Given the description of an element on the screen output the (x, y) to click on. 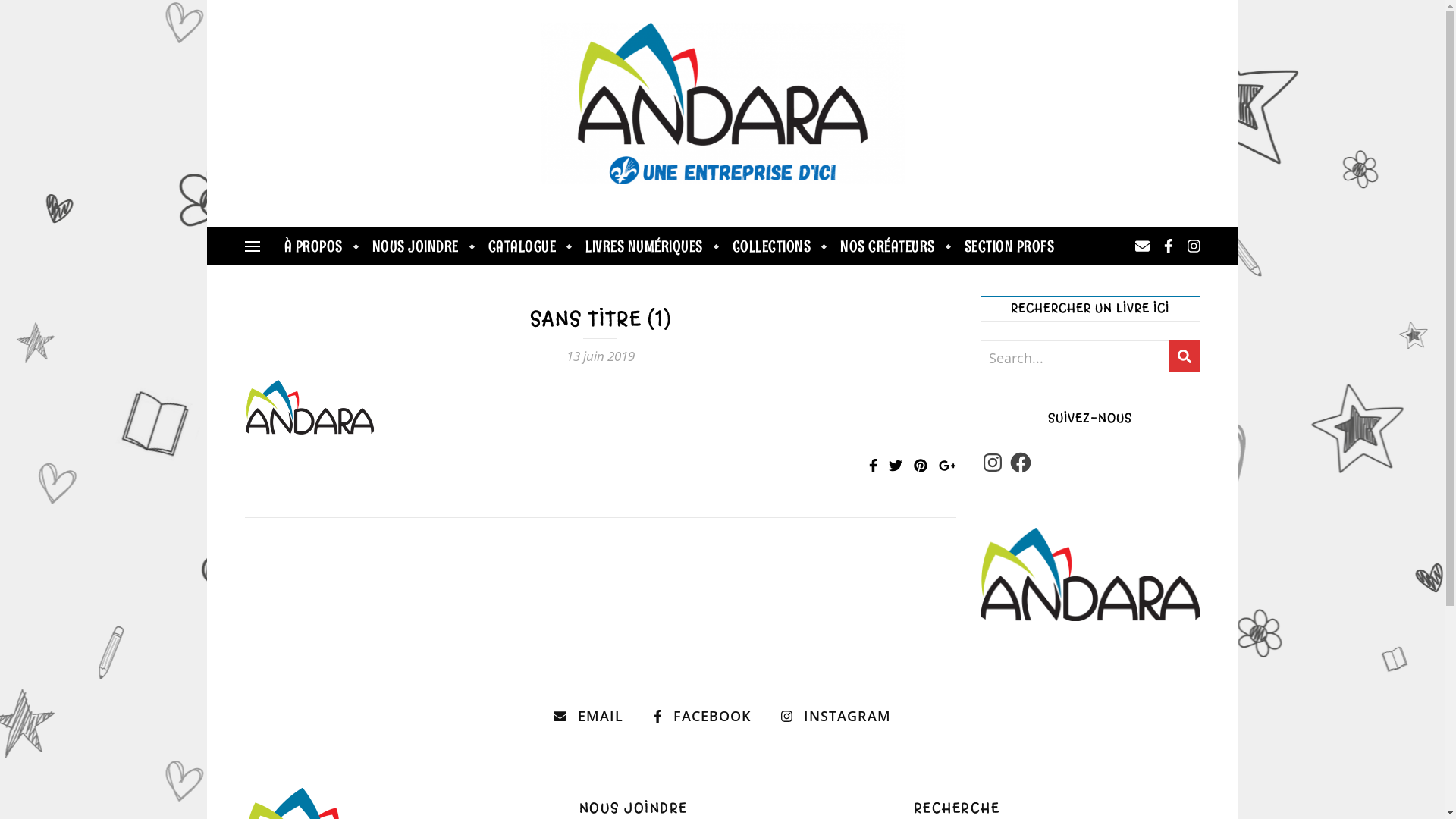
COLLECTIONS Element type: text (770, 246)
INSTAGRAM Element type: text (836, 716)
NOUS JOINDRE Element type: text (415, 246)
SECTION PROFS Element type: text (1002, 246)
CATALOGUE Element type: text (521, 246)
FACEBOOK Element type: text (701, 716)
st Element type: text (1184, 355)
EMAIL Element type: text (588, 716)
